Given the description of an element on the screen output the (x, y) to click on. 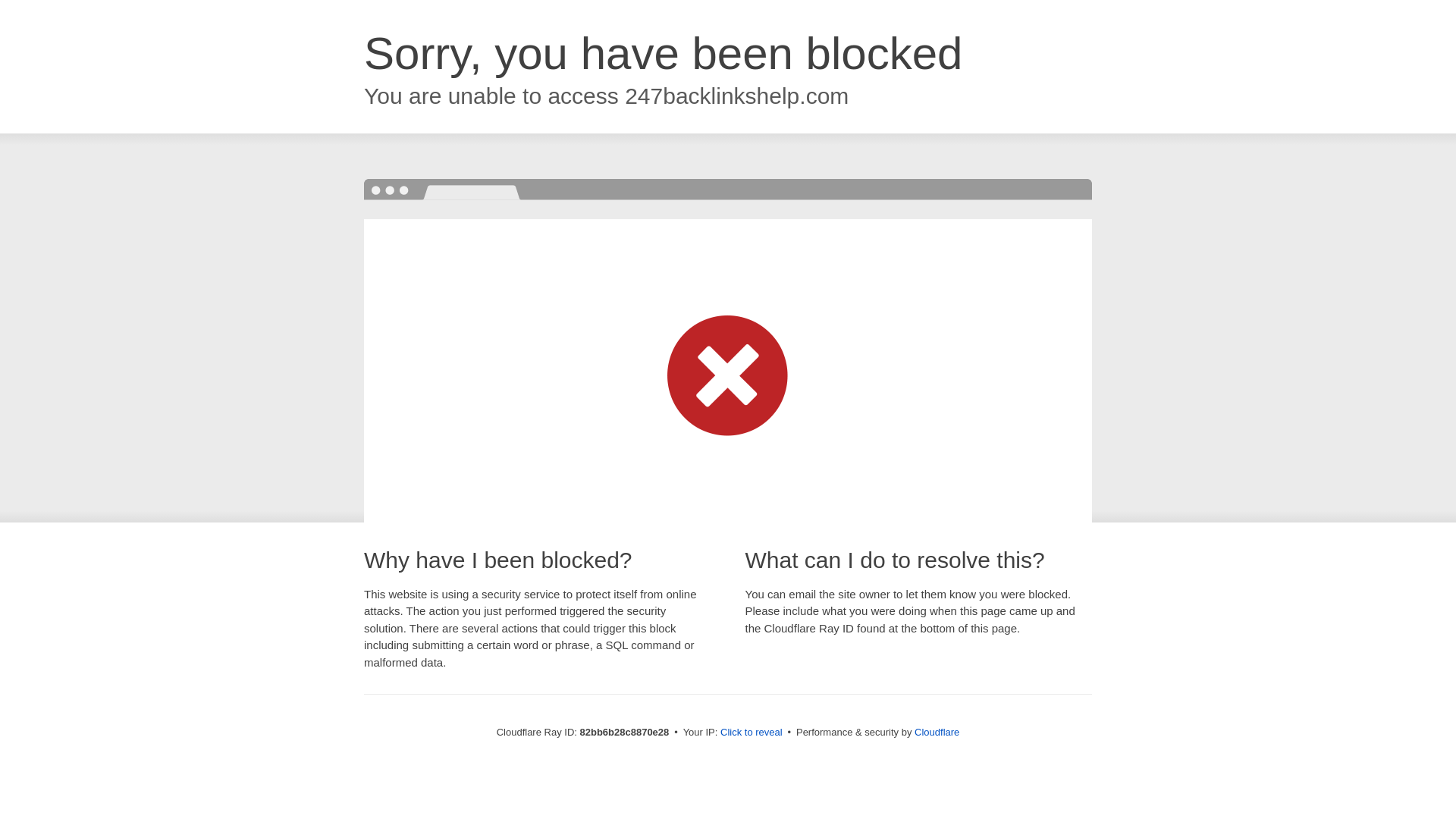
Cloudflare Element type: text (936, 731)
Click to reveal Element type: text (751, 732)
